Given the description of an element on the screen output the (x, y) to click on. 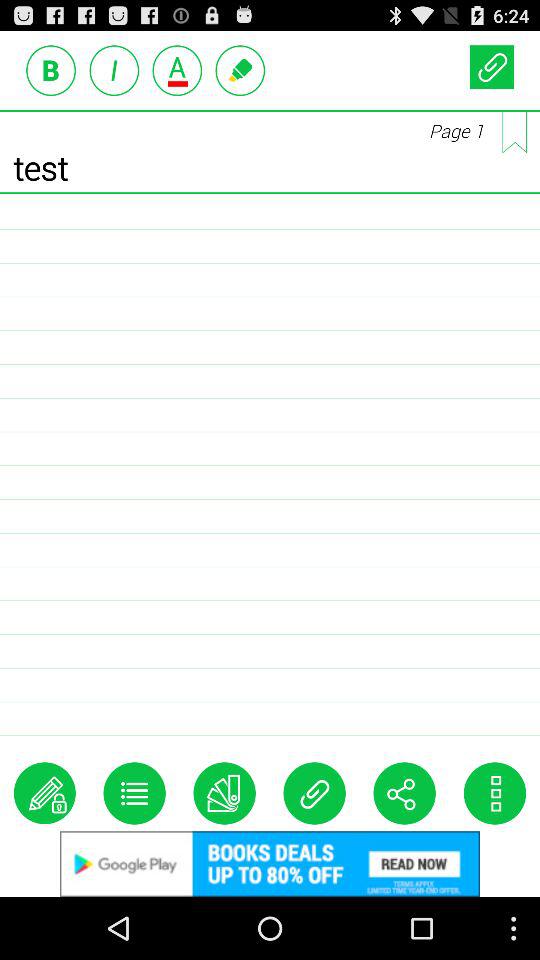
toggle italics (114, 70)
